Given the description of an element on the screen output the (x, y) to click on. 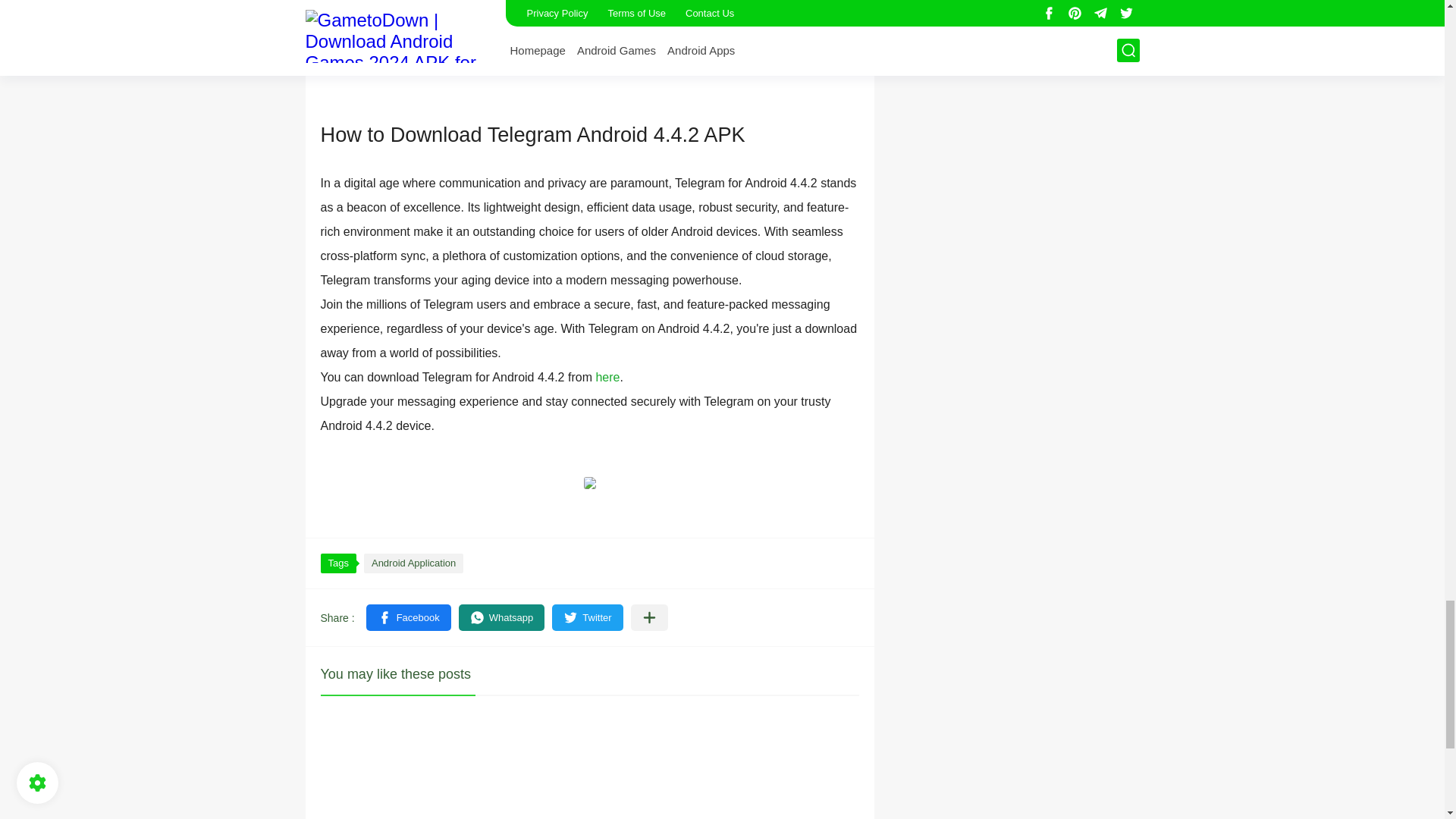
here (607, 377)
Android Application (413, 563)
Android Application (413, 563)
